Given the description of an element on the screen output the (x, y) to click on. 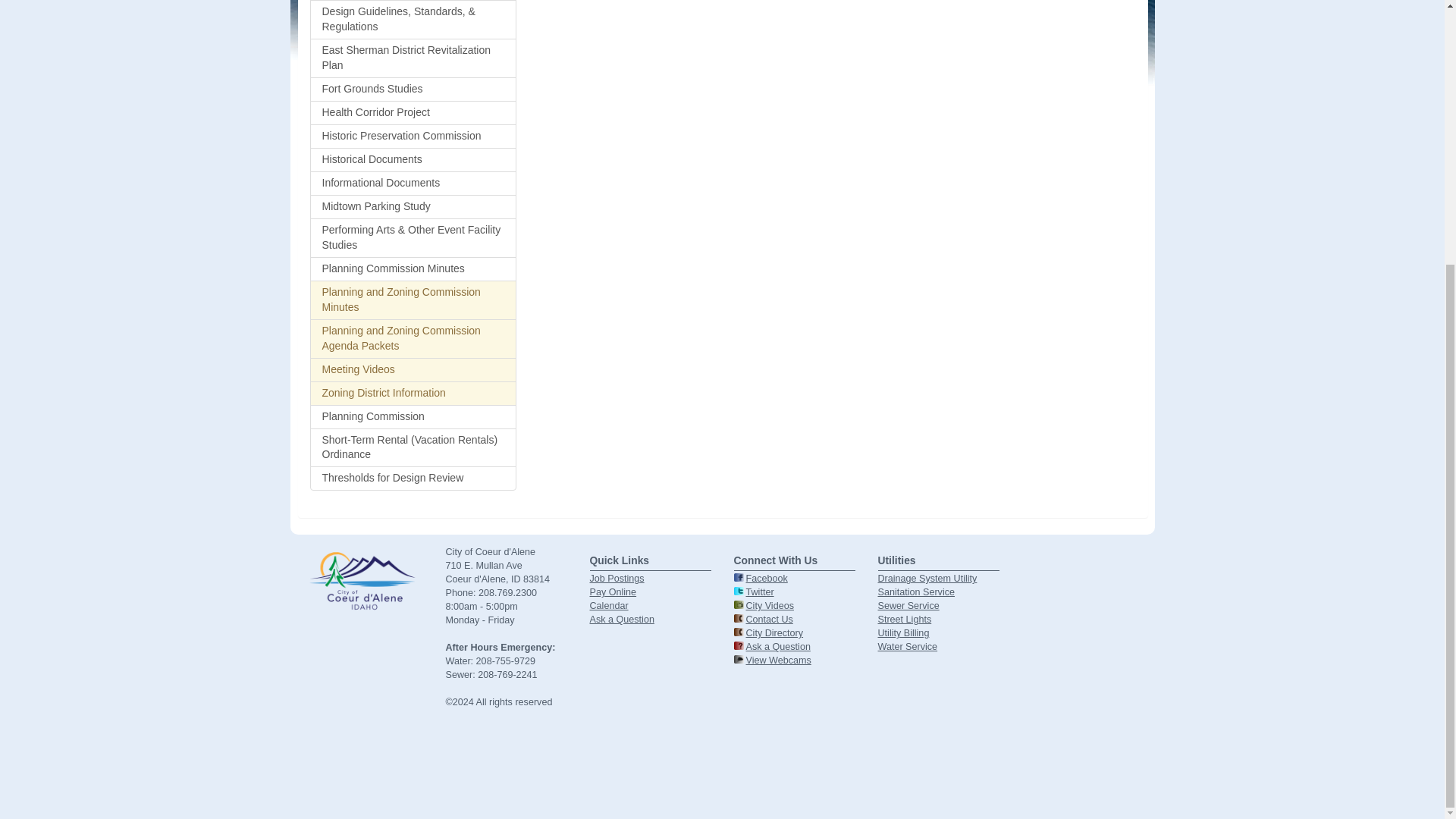
View City Web Cameras (777, 660)
